Given the description of an element on the screen output the (x, y) to click on. 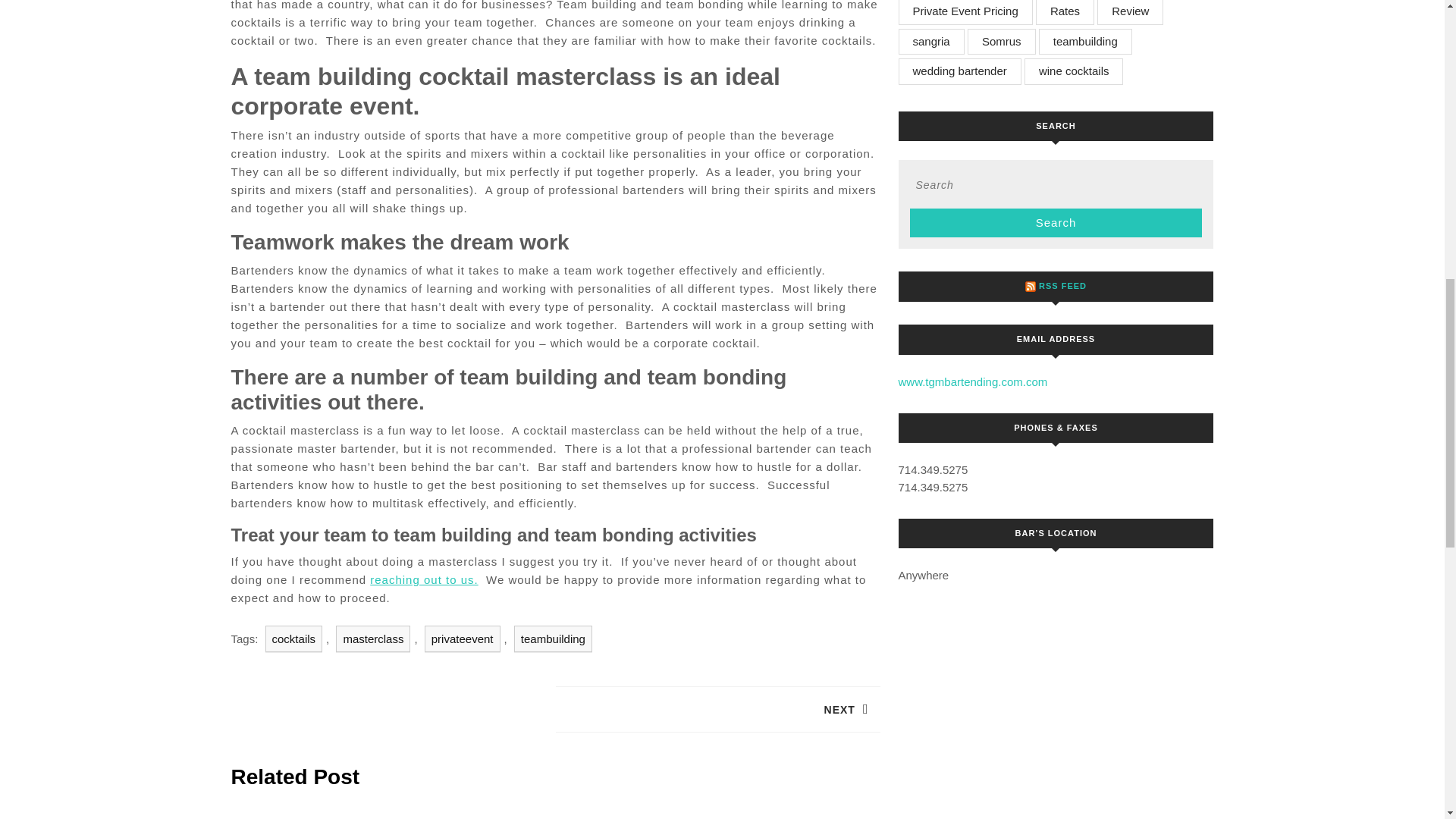
reaching out to us. (423, 579)
privateevent (462, 638)
Search (1056, 223)
teambuilding (716, 709)
masterclass (552, 638)
cocktails (373, 638)
Search (293, 638)
